Given the description of an element on the screen output the (x, y) to click on. 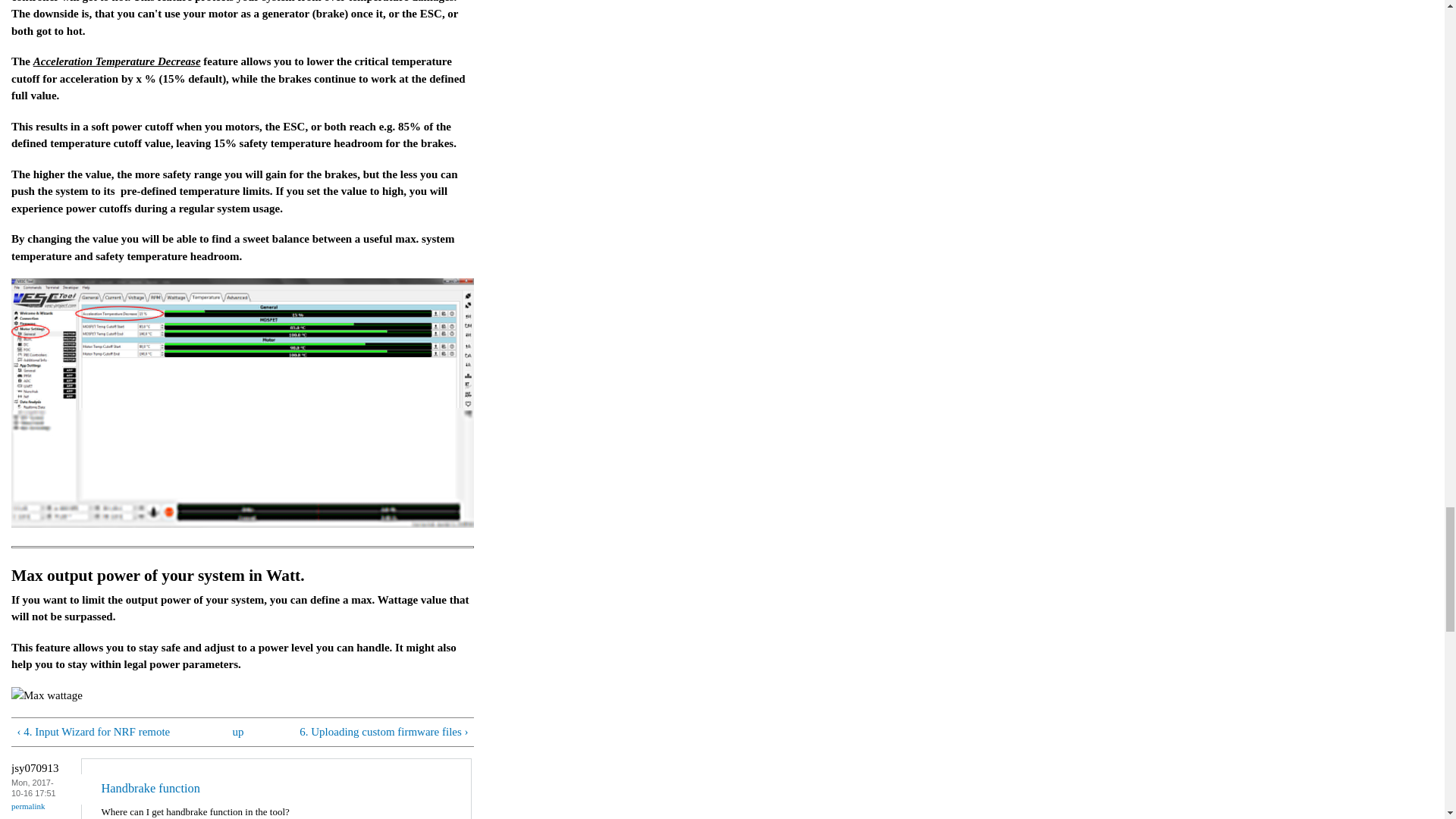
Go to next page (373, 732)
permalink (28, 807)
up (237, 732)
Go to parent page (237, 732)
Go to previous page (111, 732)
Handbrake function (149, 779)
